Given the description of an element on the screen output the (x, y) to click on. 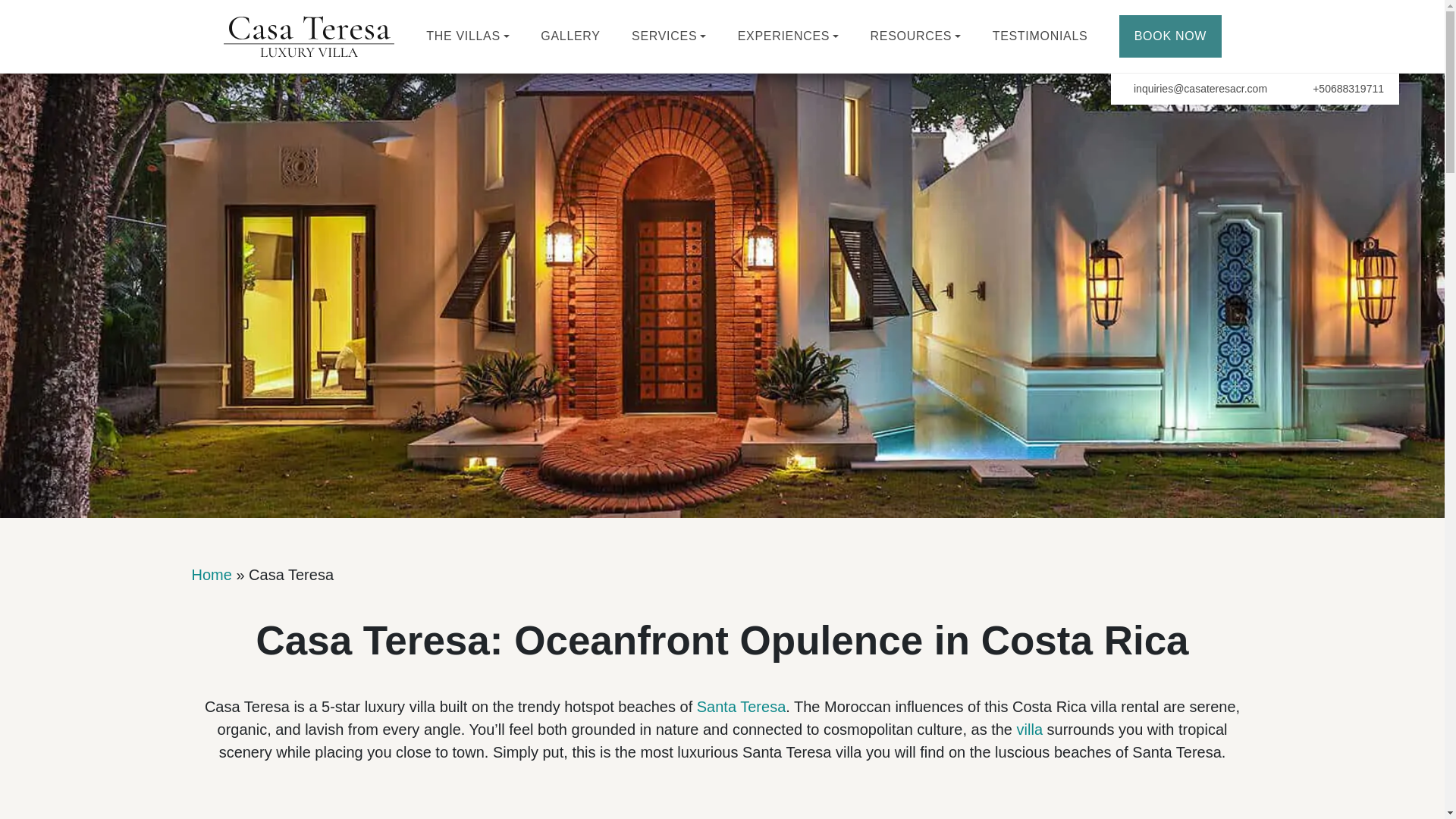
Gallery (569, 36)
EXPERIENCES (789, 36)
THE VILLAS (467, 36)
Experiences (789, 36)
Home (308, 36)
HOME (308, 36)
The Villas (467, 36)
GALLERY (569, 36)
Services (668, 36)
SERVICES (668, 36)
RESOURCES (915, 36)
